Given the description of an element on the screen output the (x, y) to click on. 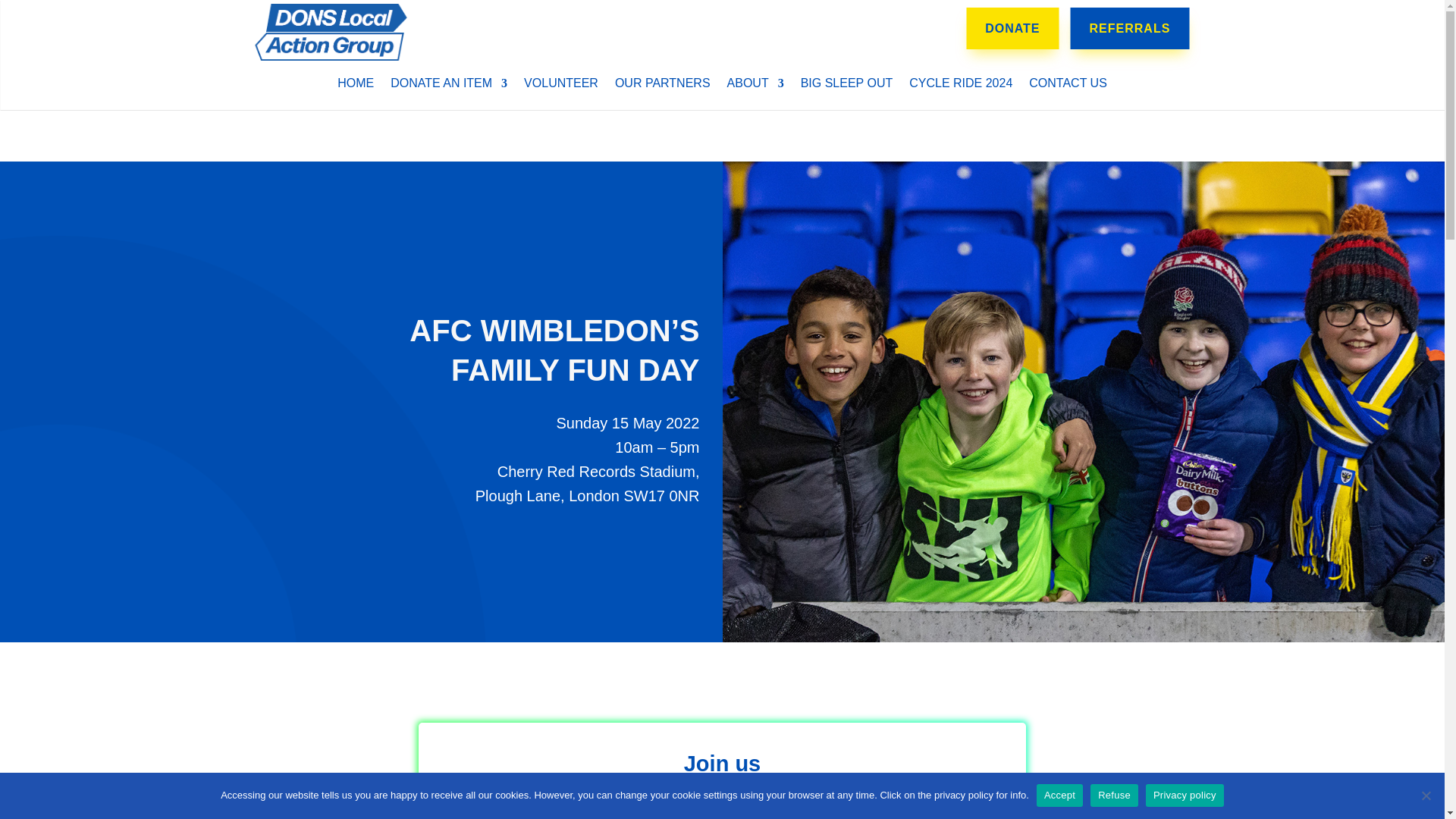
CYCLE RIDE 2024 (959, 86)
VOLUNTEER (561, 86)
OUR PARTNERS (662, 86)
DONATE (1012, 28)
CONTACT US (1067, 86)
HOME (355, 86)
Refuse (1425, 795)
REFERRALS (1129, 28)
ABOUT (755, 86)
BIG SLEEP OUT (846, 86)
DONATE AN ITEM (448, 86)
